Given the description of an element on the screen output the (x, y) to click on. 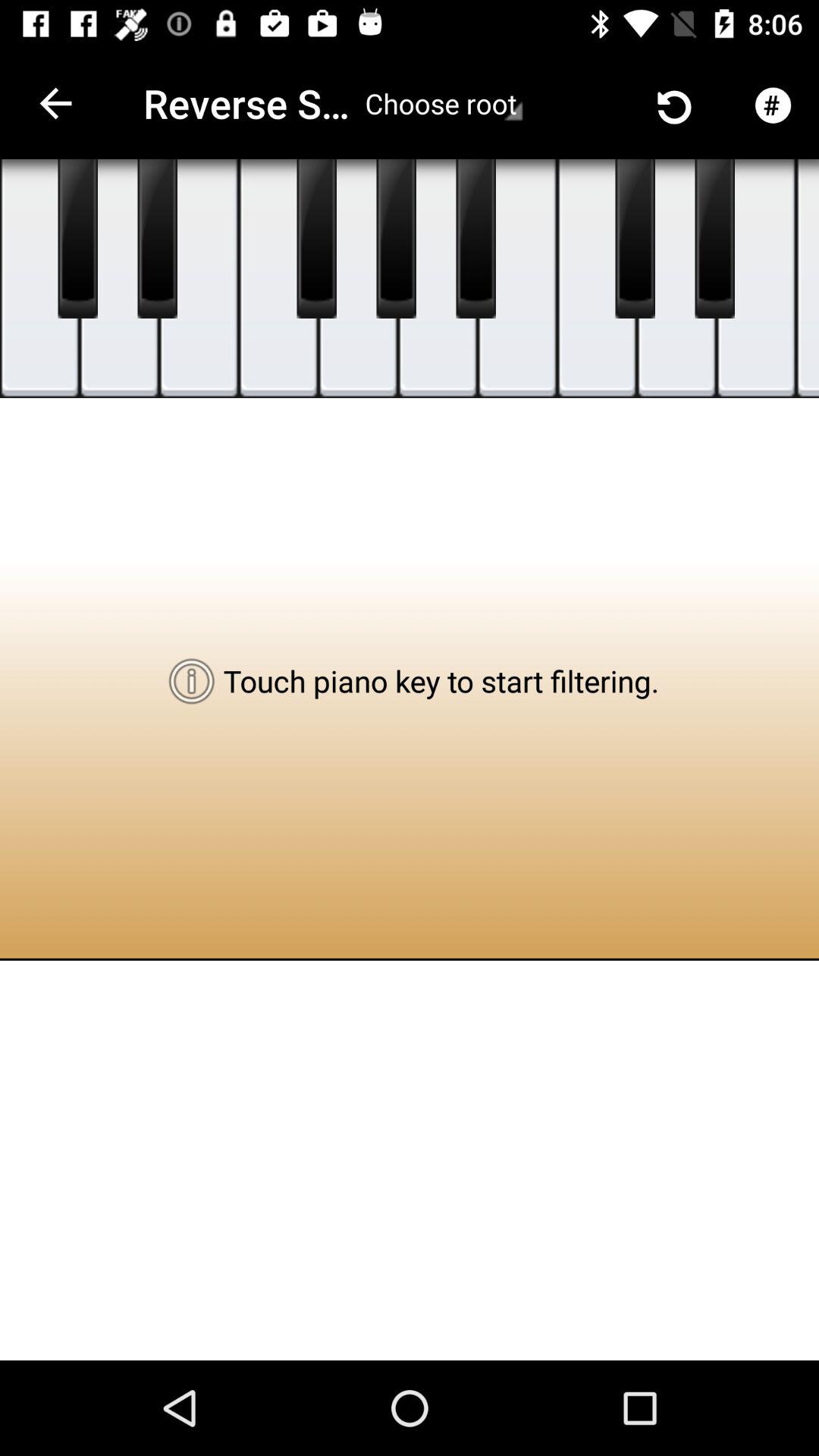
touch piano key to filter (119, 278)
